Given the description of an element on the screen output the (x, y) to click on. 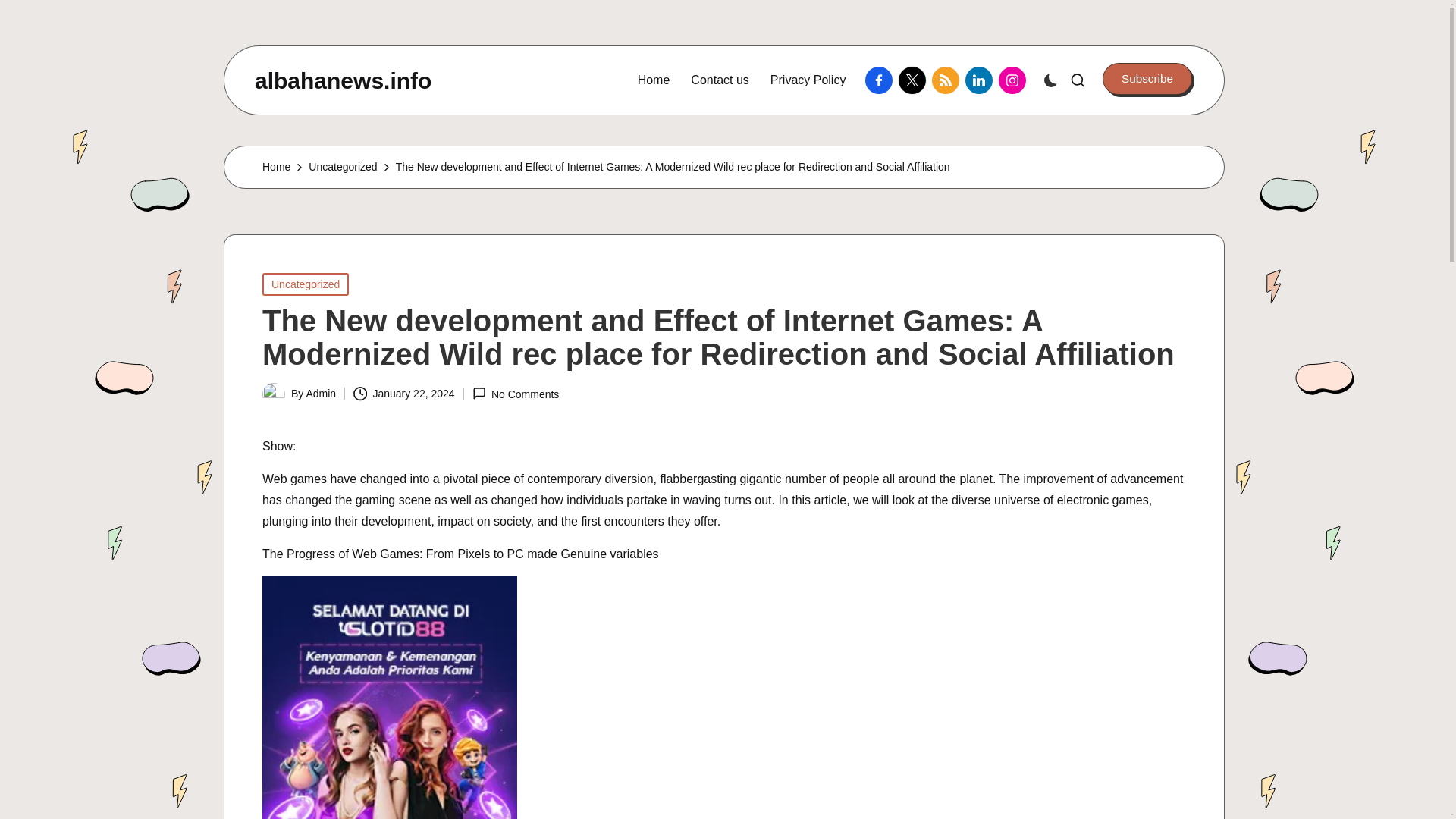
albahanews.info (342, 80)
No Comments (515, 393)
Privacy Policy (807, 79)
Contact us (719, 79)
Uncategorized (342, 167)
facebook.com (881, 80)
View all posts by Admin (320, 393)
Uncategorized (305, 283)
Home (275, 167)
Home (653, 79)
rss.com (948, 80)
instagram.com (1015, 80)
linkedin.com (981, 80)
Admin (320, 393)
Subscribe (1147, 79)
